Given the description of an element on the screen output the (x, y) to click on. 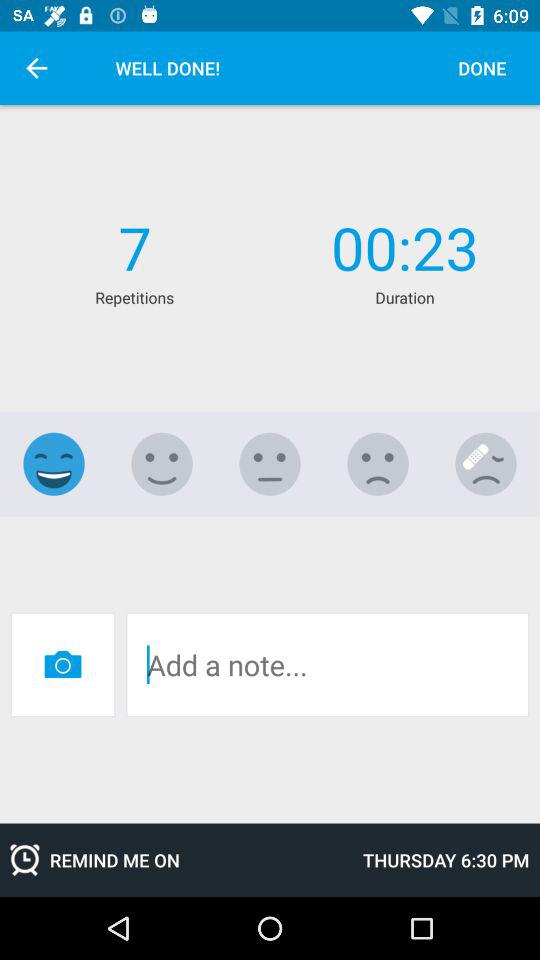
add a note (327, 664)
